Given the description of an element on the screen output the (x, y) to click on. 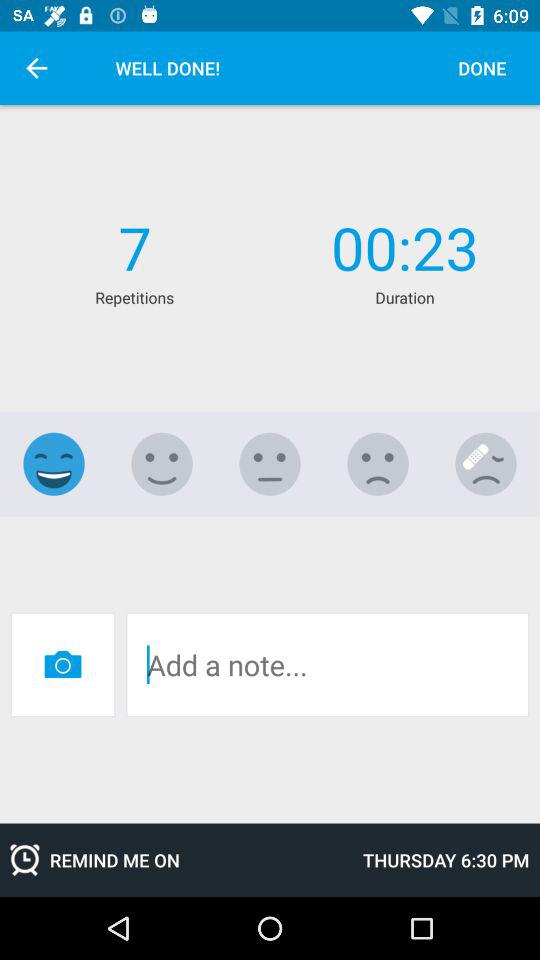
add a note (327, 664)
